Given the description of an element on the screen output the (x, y) to click on. 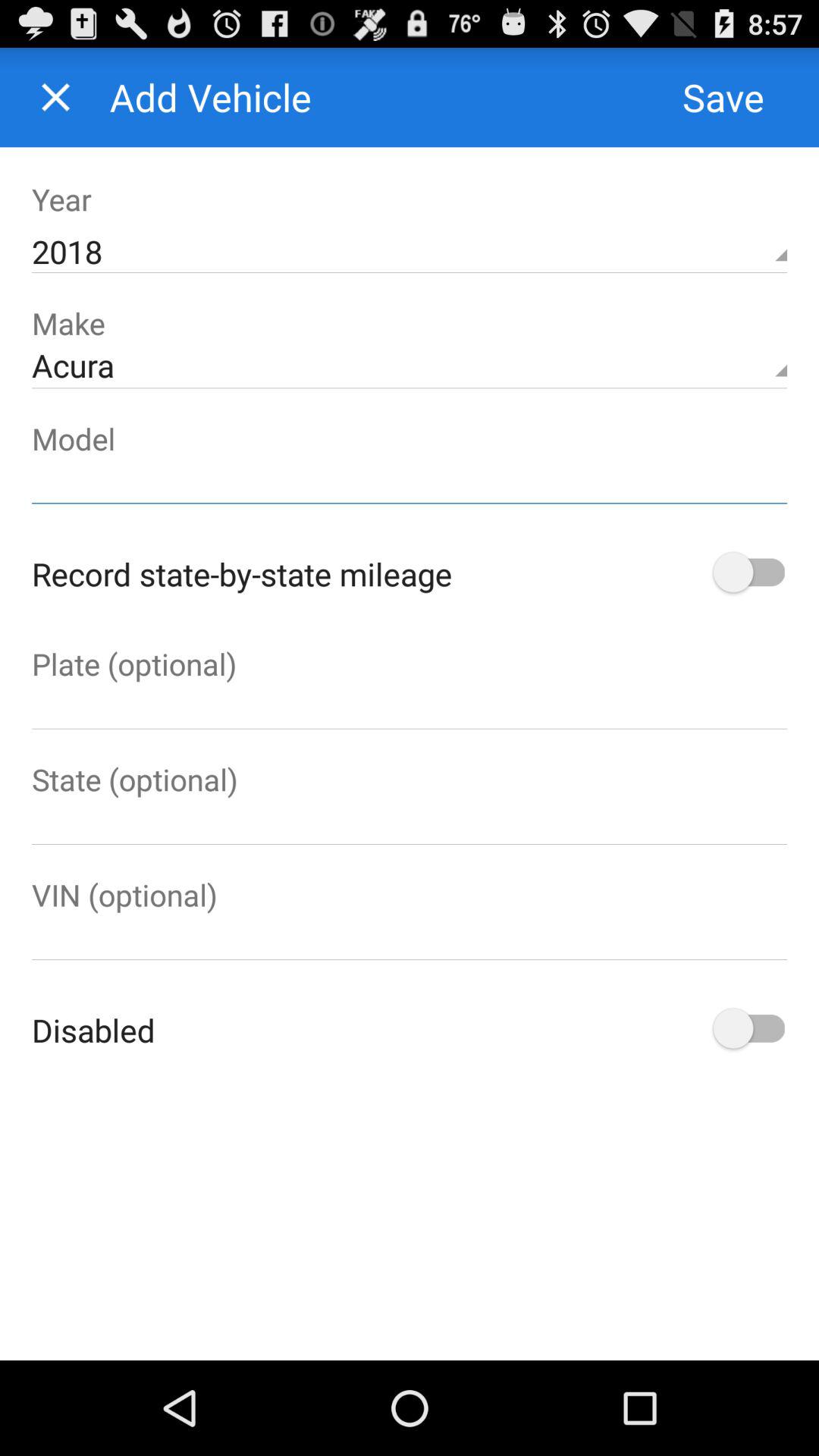
switch disable option (747, 1029)
